Given the description of an element on the screen output the (x, y) to click on. 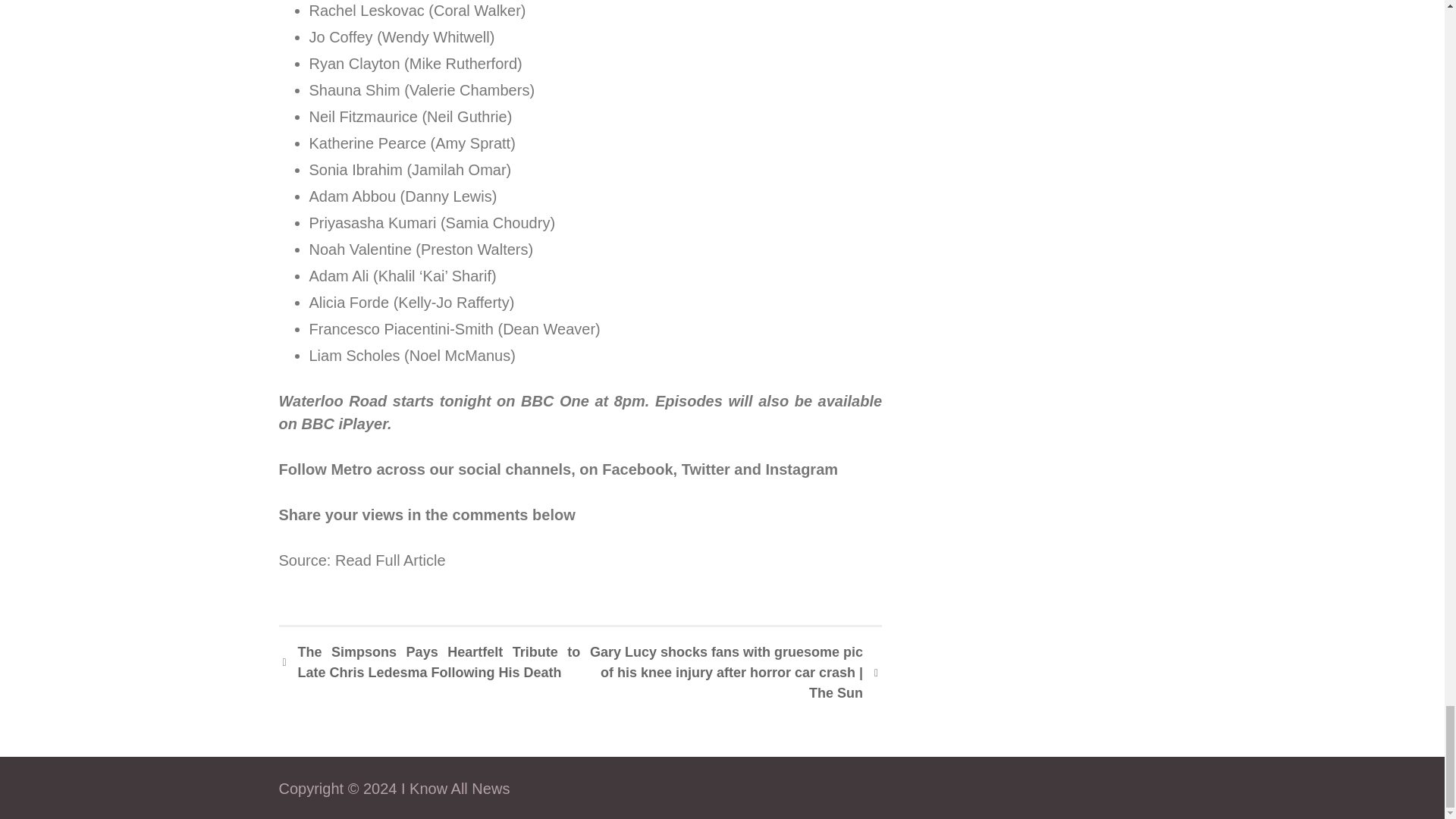
Read Full Article (389, 560)
